Given the description of an element on the screen output the (x, y) to click on. 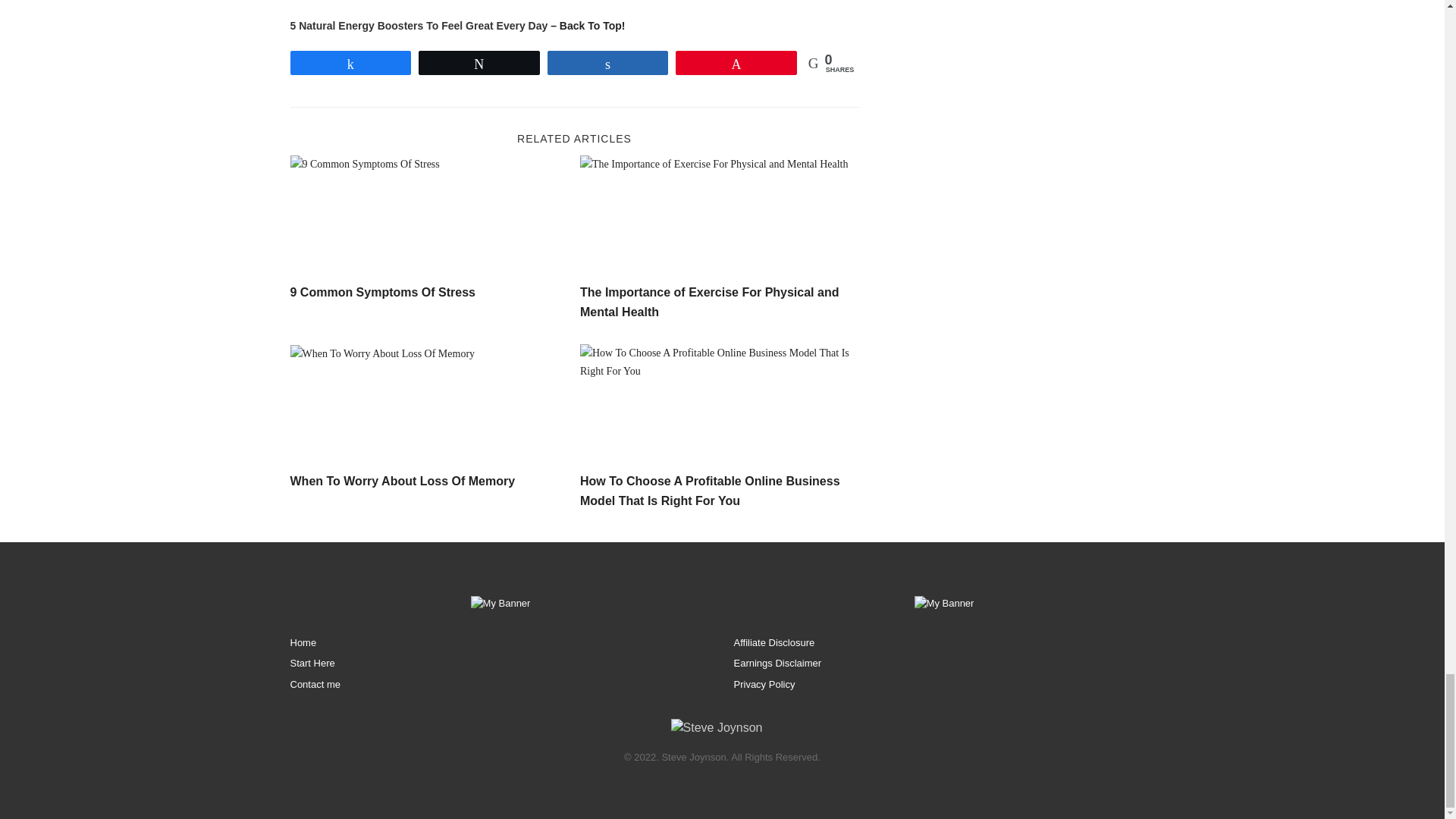
Steve Joynson (716, 728)
9 Common Symptoms Of Stress (429, 215)
When To Worry About Loss Of Memory (402, 481)
The Importance of Exercise For Physical and Mental Health (708, 301)
9 Common Symptoms Of Stress (382, 291)
The Importance of Exercise For Physical and Mental Health (719, 215)
When To Worry About Loss Of Memory (429, 404)
